Given the description of an element on the screen output the (x, y) to click on. 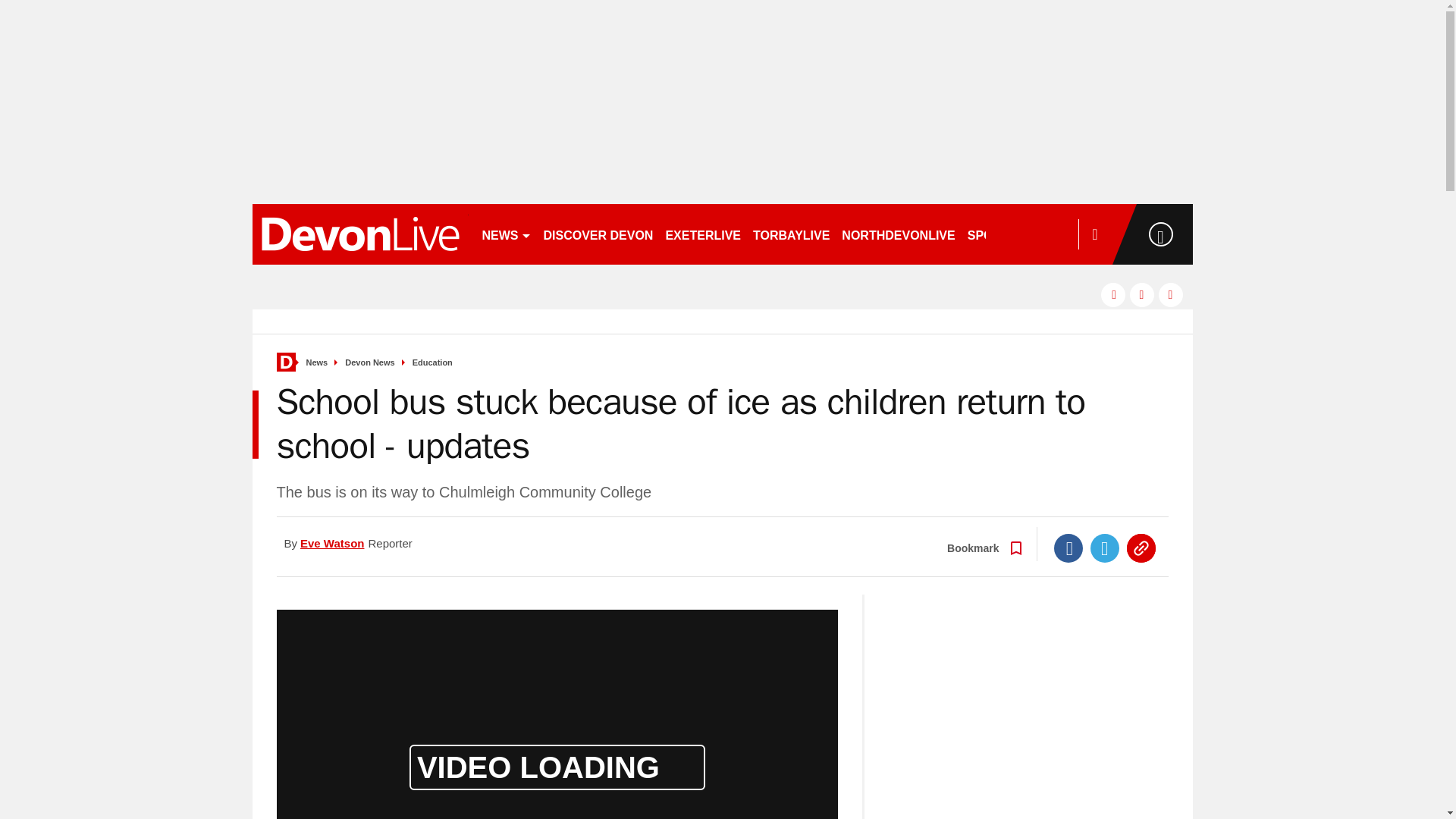
devonlive (359, 233)
facebook (1112, 294)
NEWS (506, 233)
twitter (1141, 294)
EXETERLIVE (702, 233)
DISCOVER DEVON (598, 233)
SPORT (993, 233)
Facebook (1068, 547)
instagram (1170, 294)
Twitter (1104, 547)
TORBAYLIVE (790, 233)
NORTHDEVONLIVE (897, 233)
